Given the description of an element on the screen output the (x, y) to click on. 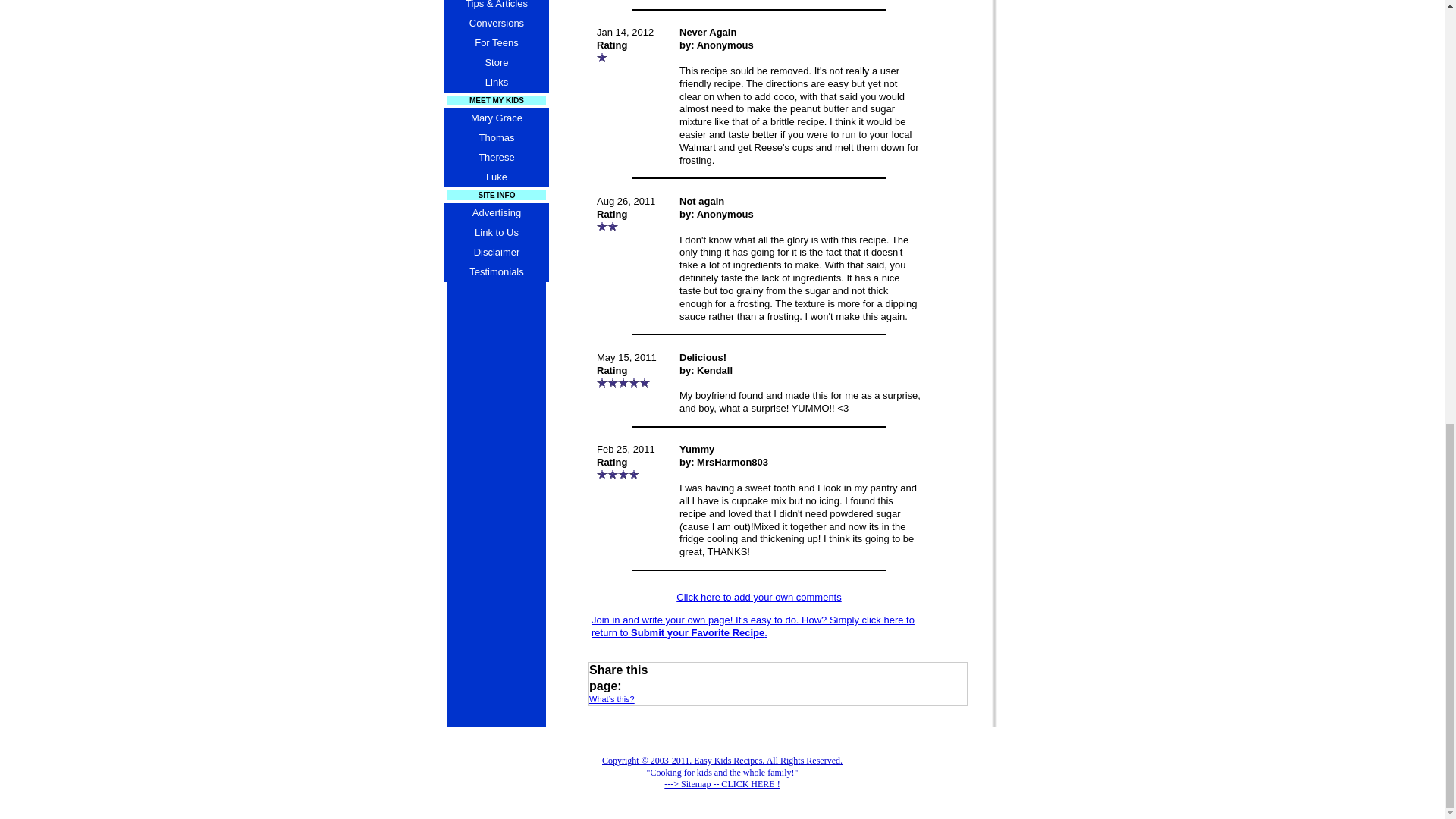
Store (496, 62)
Recipes Sitemap (722, 772)
Conversions (496, 23)
Click here to add your own comments (759, 596)
Links (496, 82)
For Teens (496, 43)
